Given the description of an element on the screen output the (x, y) to click on. 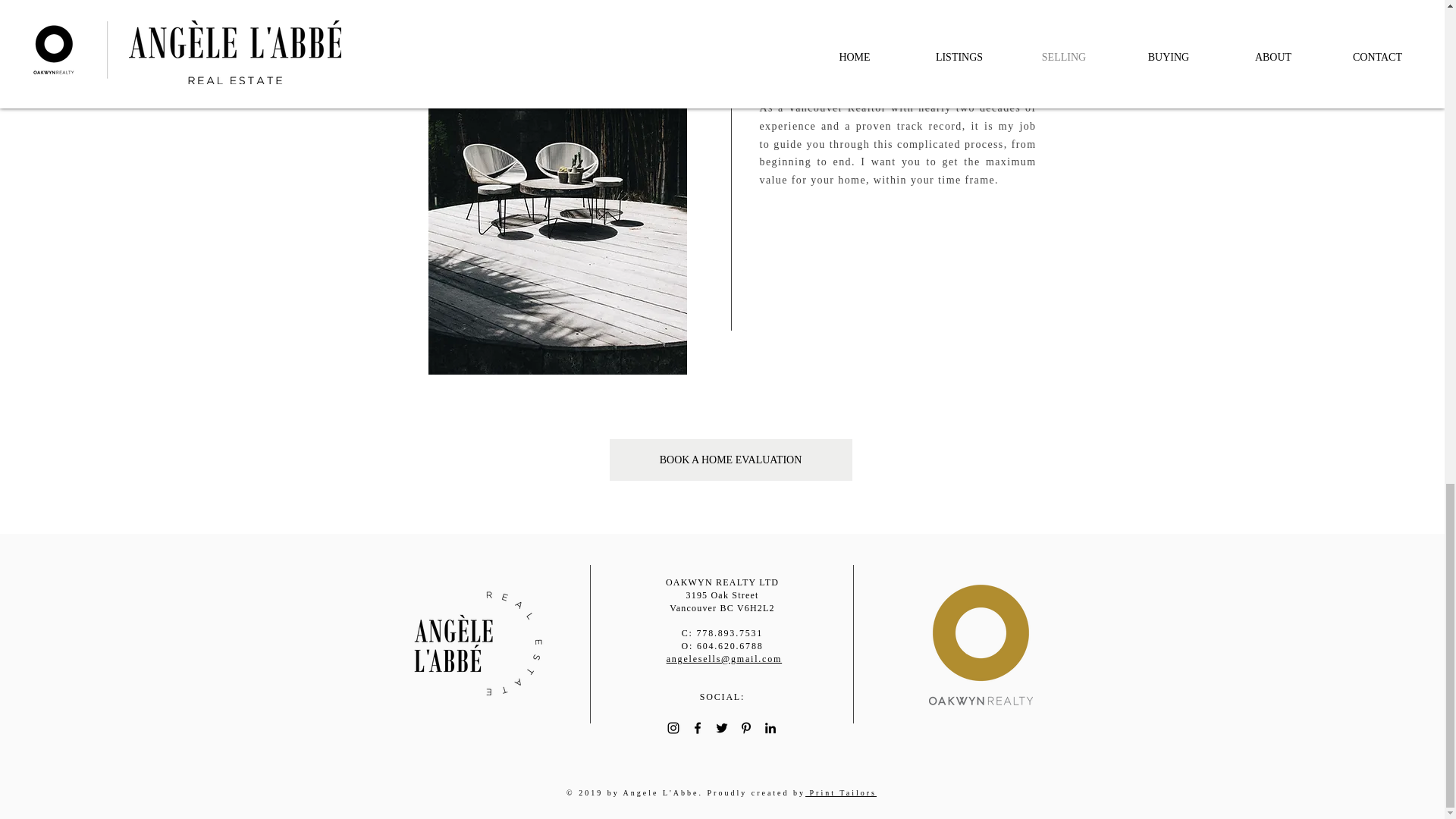
778.893.7531 (729, 633)
Print Tailors (840, 792)
BOOK A HOME EVALUATION (730, 459)
